Given the description of an element on the screen output the (x, y) to click on. 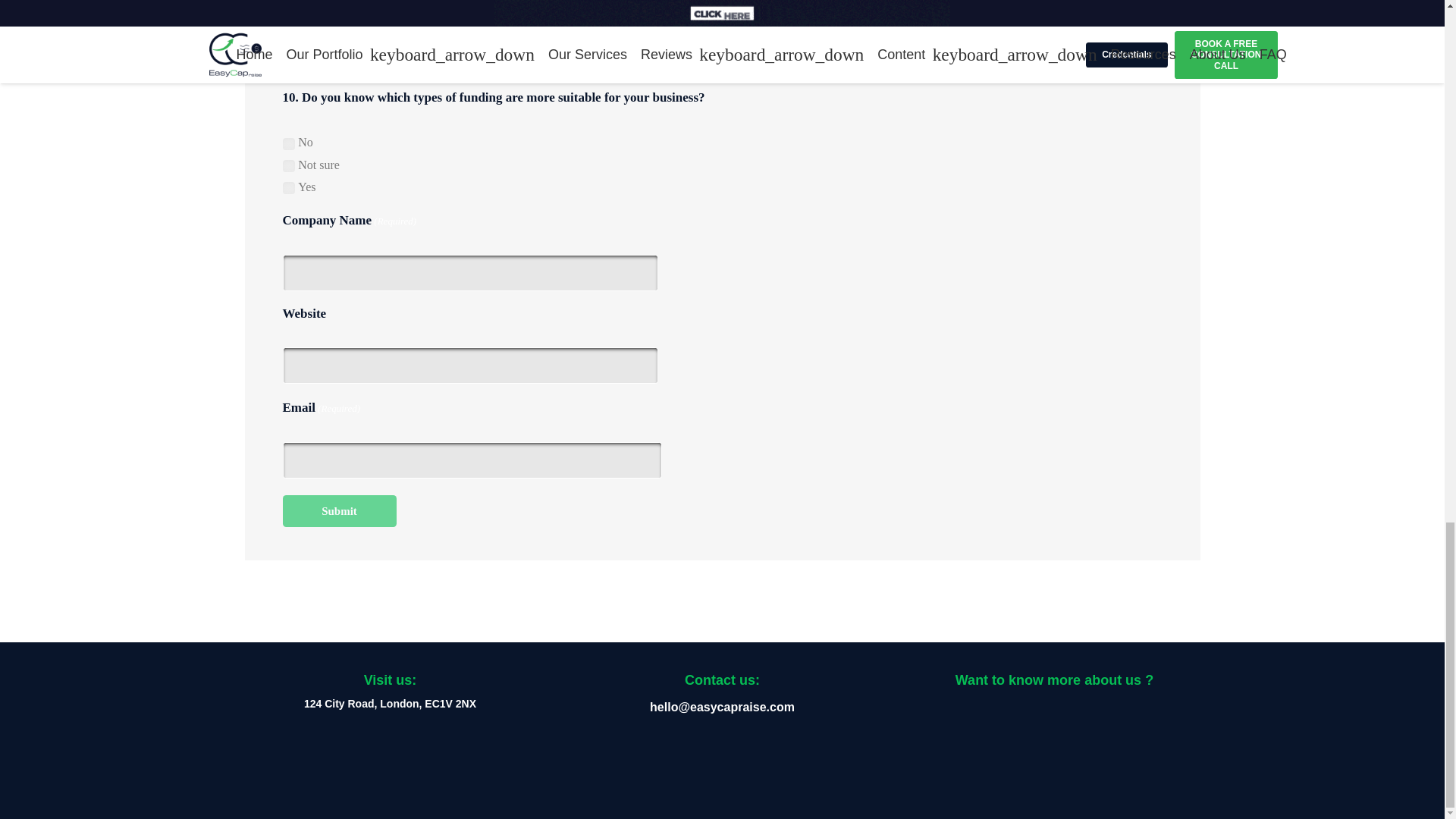
Submit (339, 511)
Submit (339, 511)
